Given the description of an element on the screen output the (x, y) to click on. 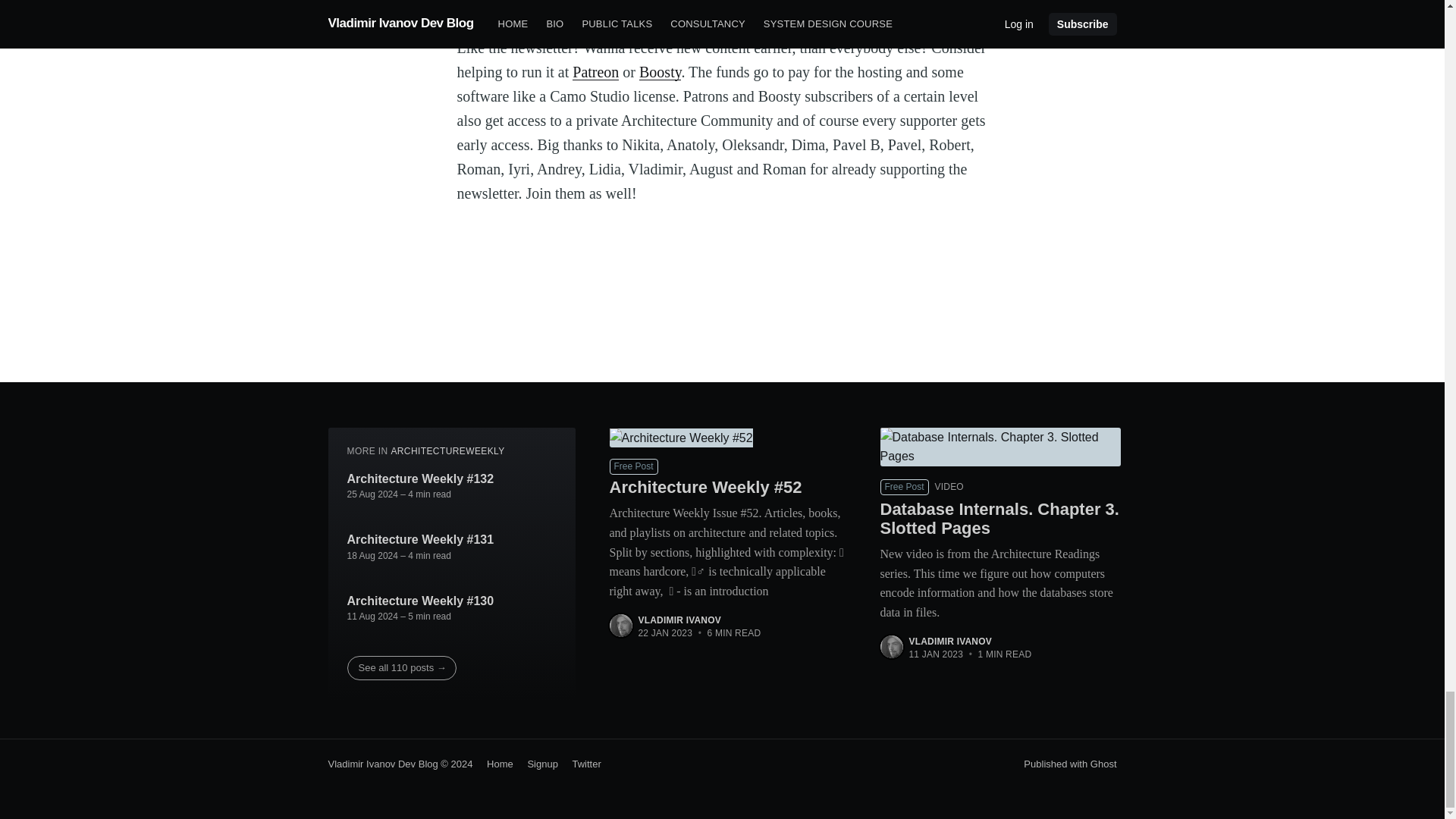
ARCHITECTUREWEEKLY (446, 450)
Patreon (595, 71)
Boosty (660, 71)
VLADIMIR IVANOV (679, 620)
VLADIMIR IVANOV (949, 641)
